Given the description of an element on the screen output the (x, y) to click on. 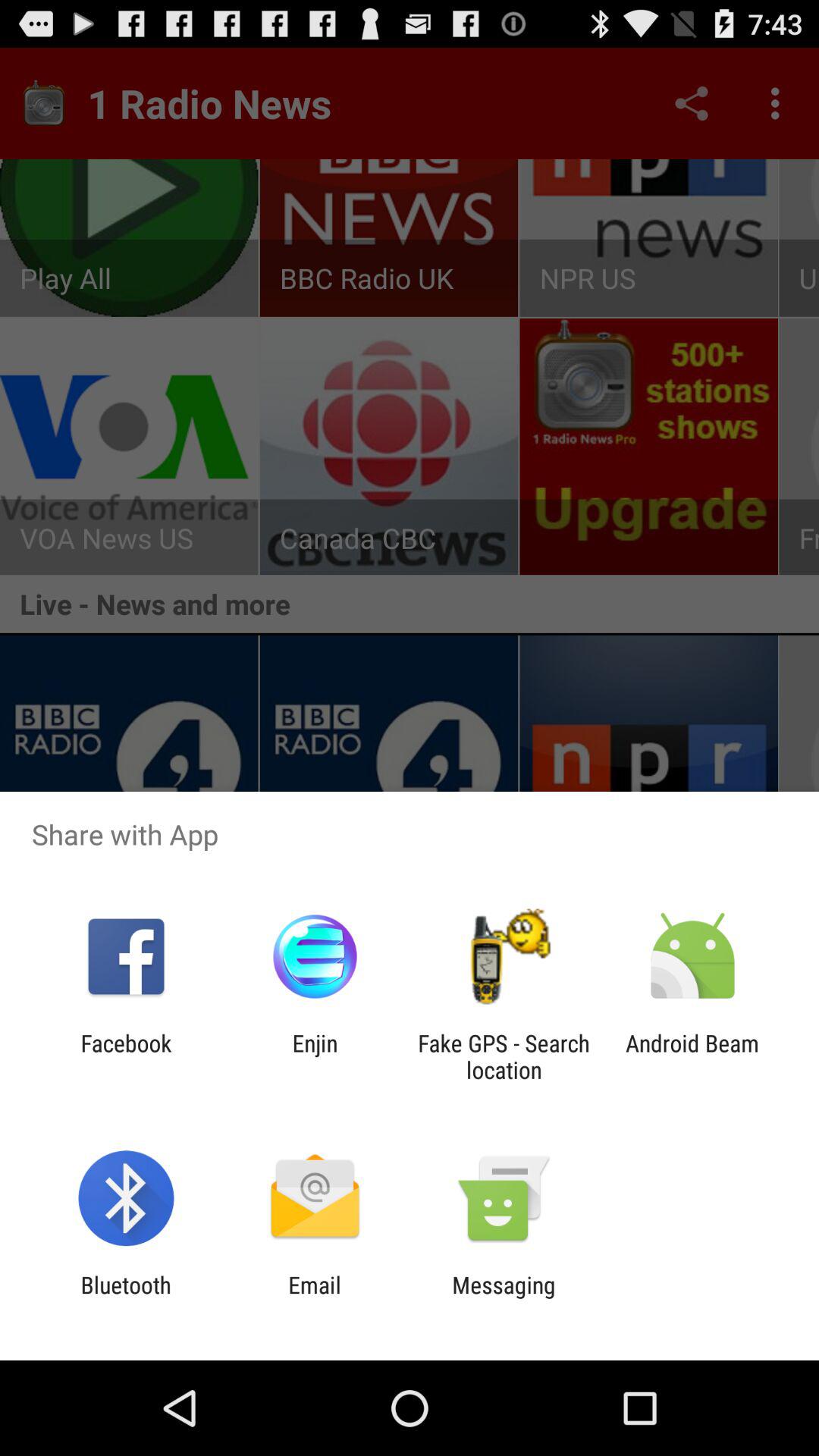
press facebook app (125, 1056)
